Given the description of an element on the screen output the (x, y) to click on. 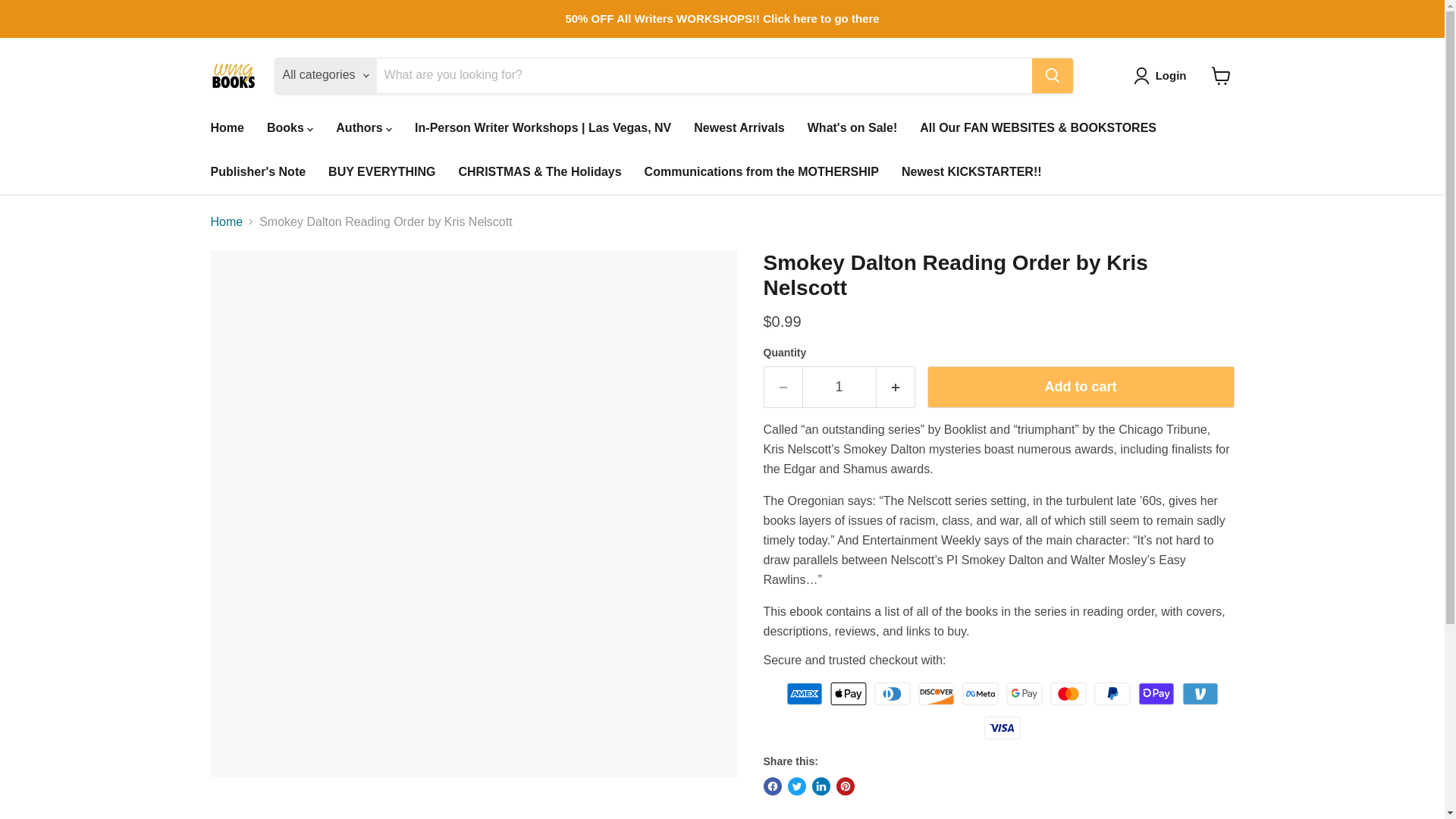
American Express (804, 693)
PayPal (1112, 693)
Home (226, 128)
Meta Pay (980, 693)
Visa (1002, 727)
Google Pay (1024, 693)
Shop Pay (1156, 693)
1 (839, 386)
Newest Arrivals (738, 128)
Discover (936, 693)
